Given the description of an element on the screen output the (x, y) to click on. 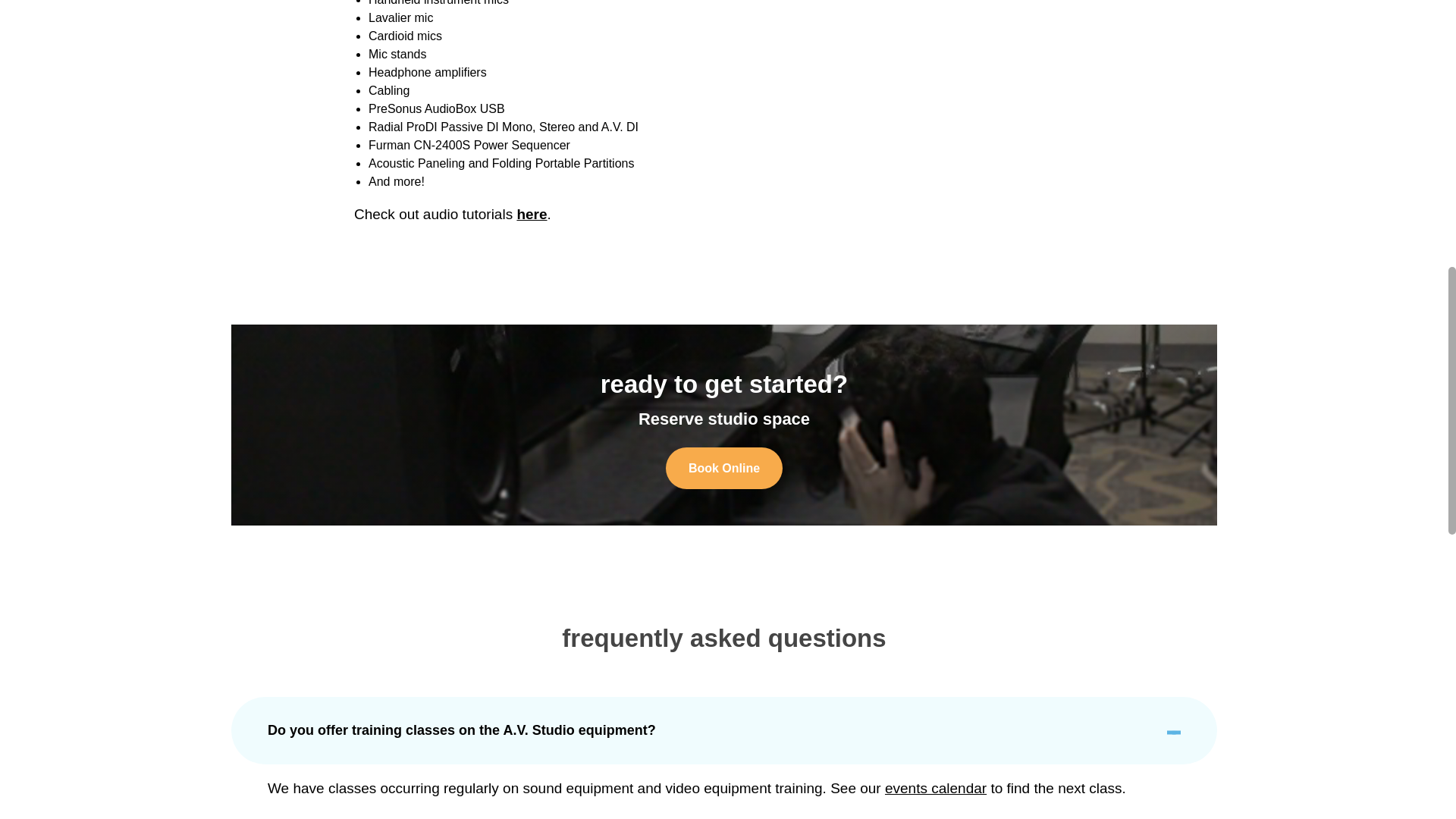
Book Online (724, 467)
here (531, 213)
events calendar (936, 788)
